Given the description of an element on the screen output the (x, y) to click on. 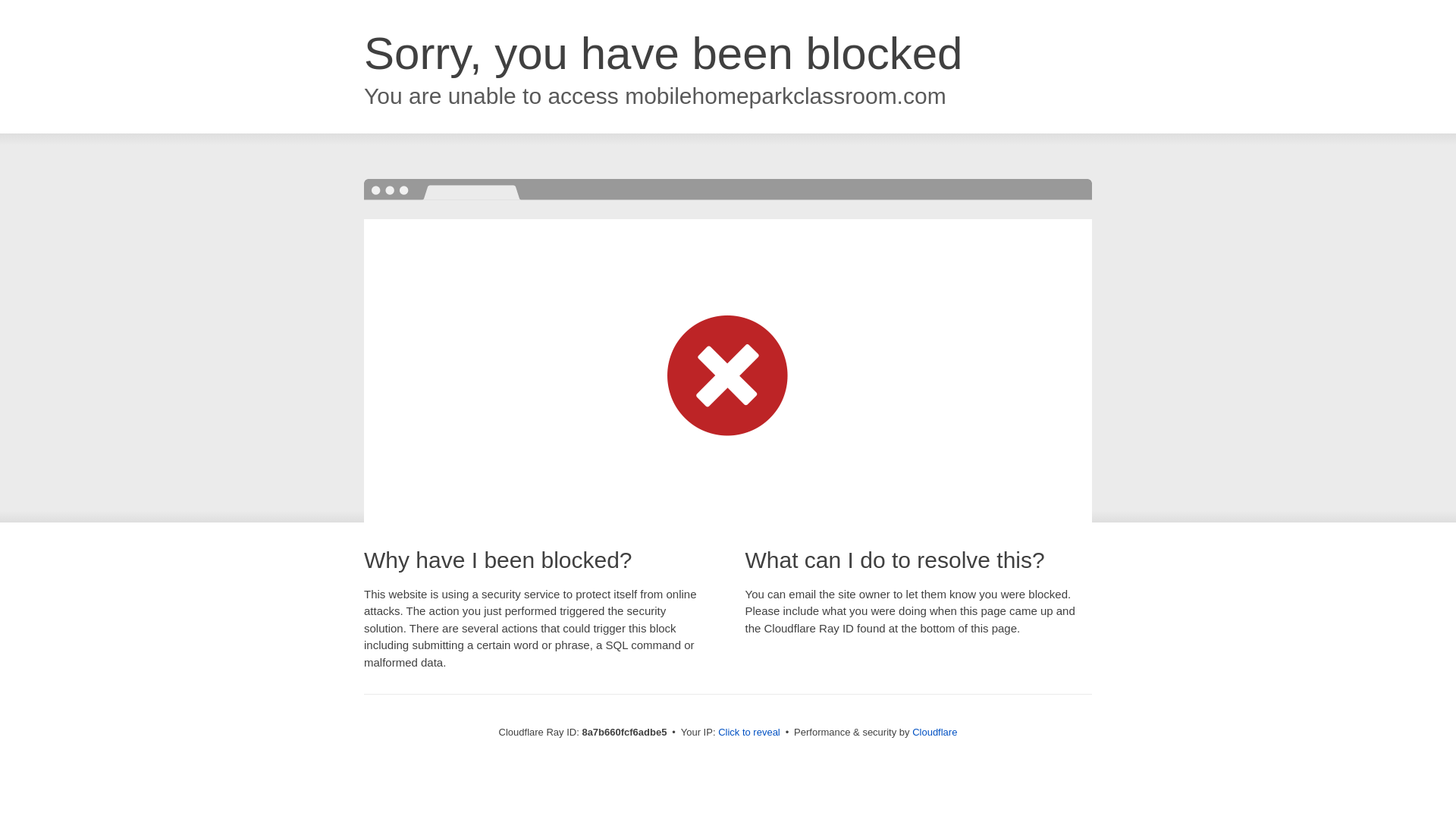
Cloudflare (934, 731)
Click to reveal (748, 732)
